Given the description of an element on the screen output the (x, y) to click on. 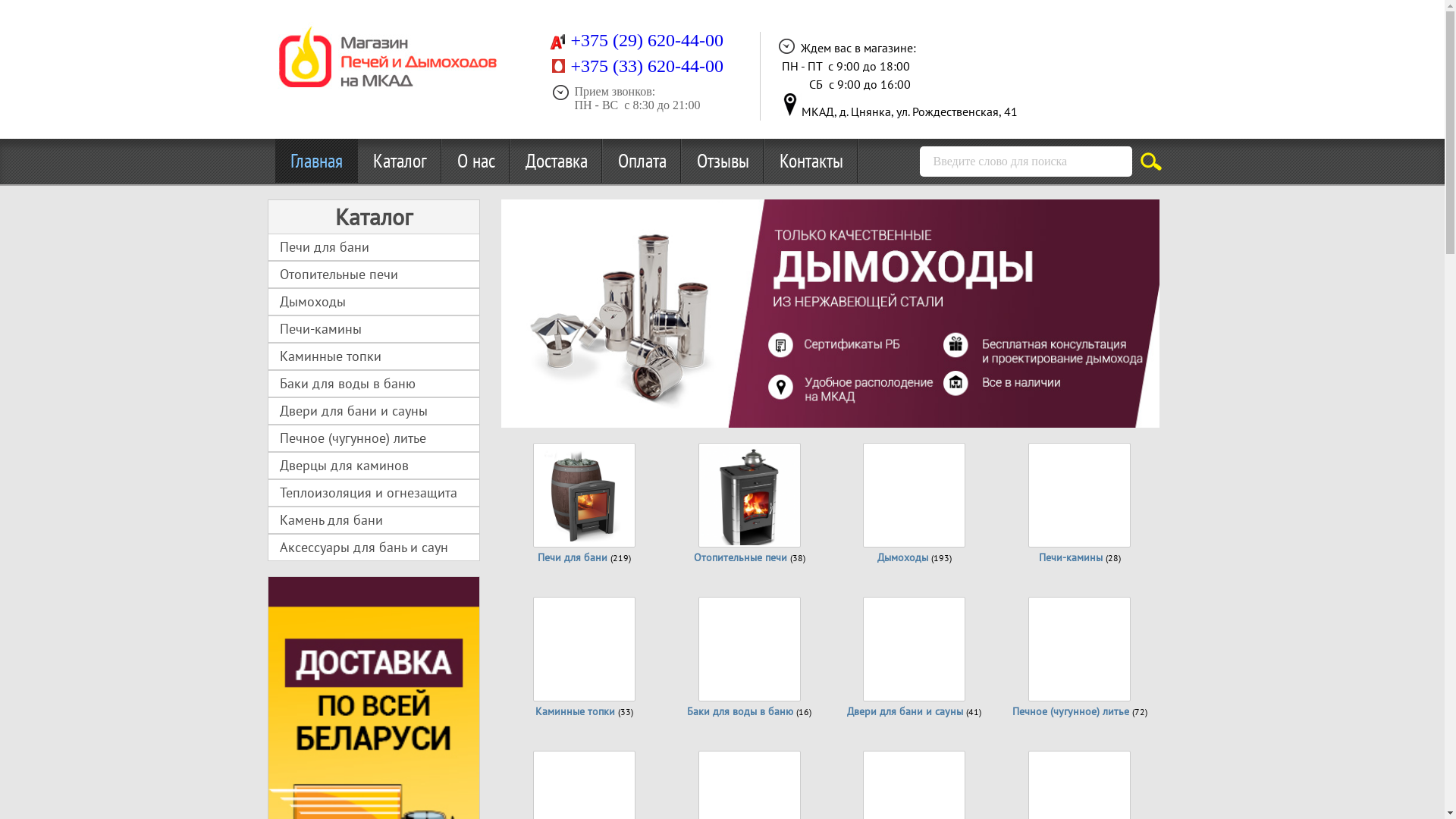
+375 (29) 620-44-00  Element type: text (646, 42)
1 Element type: text (522, 403)
a1.png Element type: hover (557, 41)
no-translate-detected_318-27222.jpg Element type: hover (789, 104)
+375 (33) 620-44-00 Element type: text (646, 67)
